Given the description of an element on the screen output the (x, y) to click on. 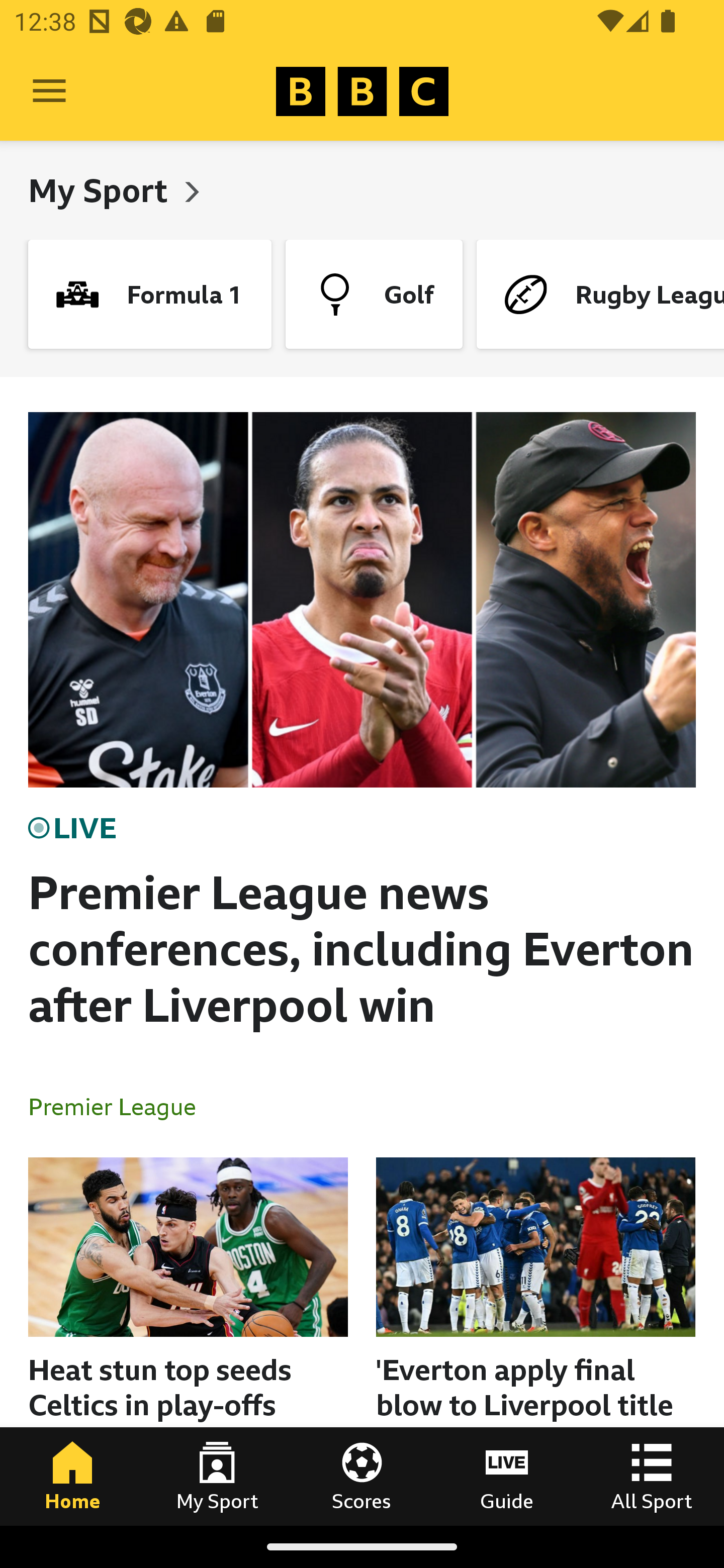
Open Menu (49, 91)
My Sport (101, 190)
Premier League In the section Premier League (119, 1106)
My Sport (216, 1475)
Scores (361, 1475)
Guide (506, 1475)
All Sport (651, 1475)
